Given the description of an element on the screen output the (x, y) to click on. 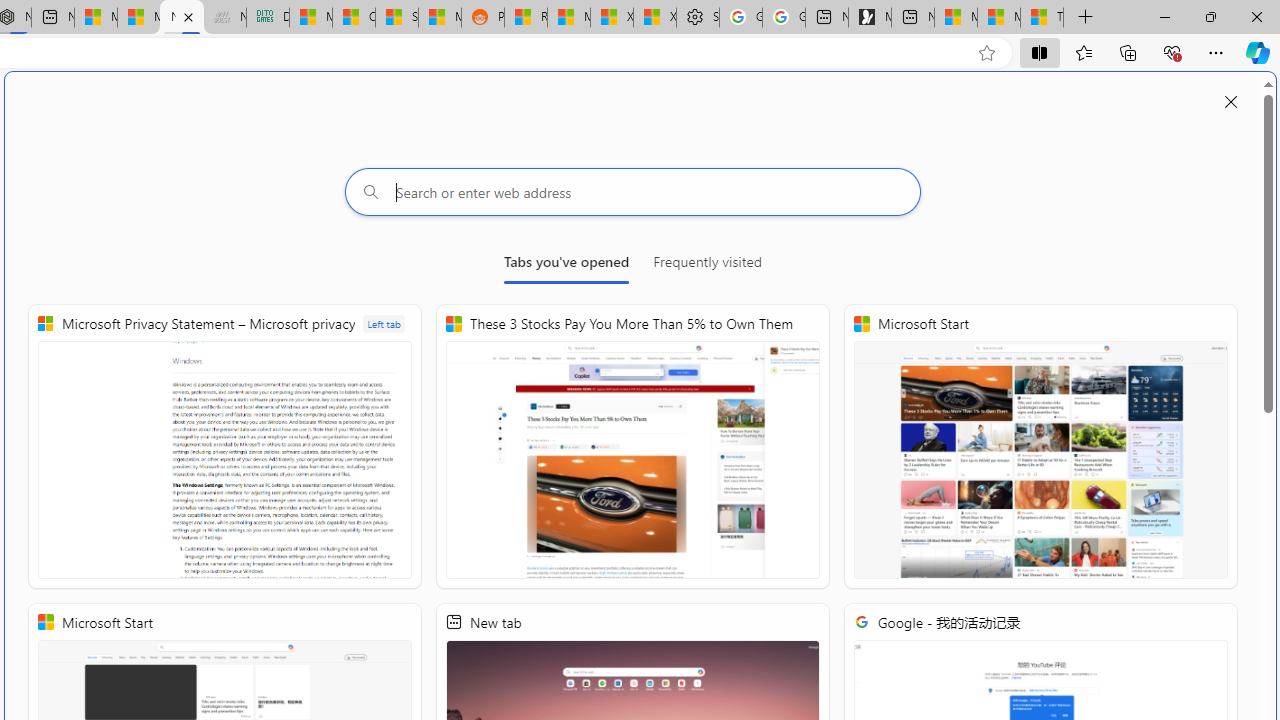
Stocks - MSN (397, 17)
Frequently visited (707, 265)
